Given the description of an element on the screen output the (x, y) to click on. 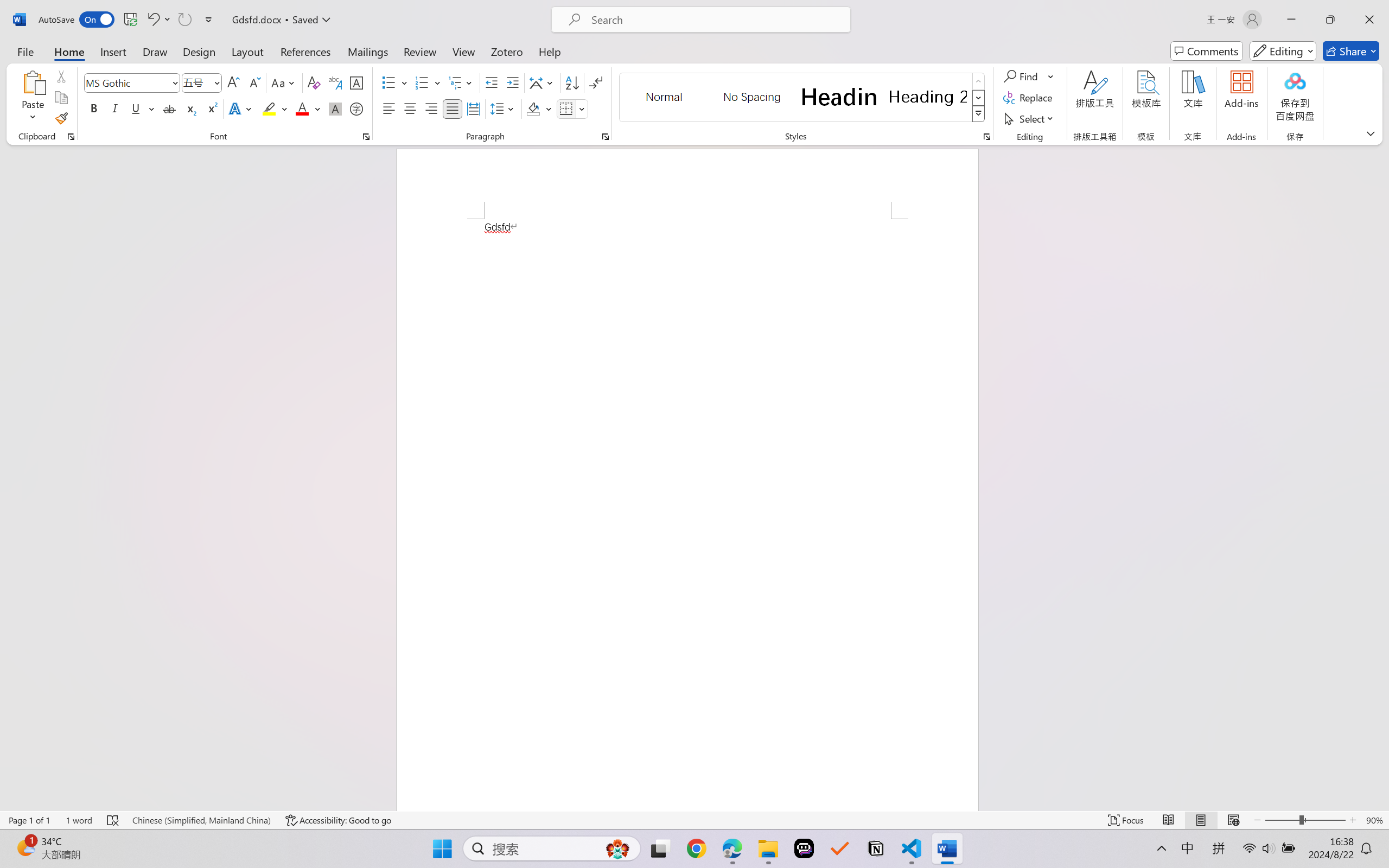
Select (1030, 118)
Undo Font Formatting (158, 19)
AutomationID: QuickStylesGallery (802, 97)
